Given the description of an element on the screen output the (x, y) to click on. 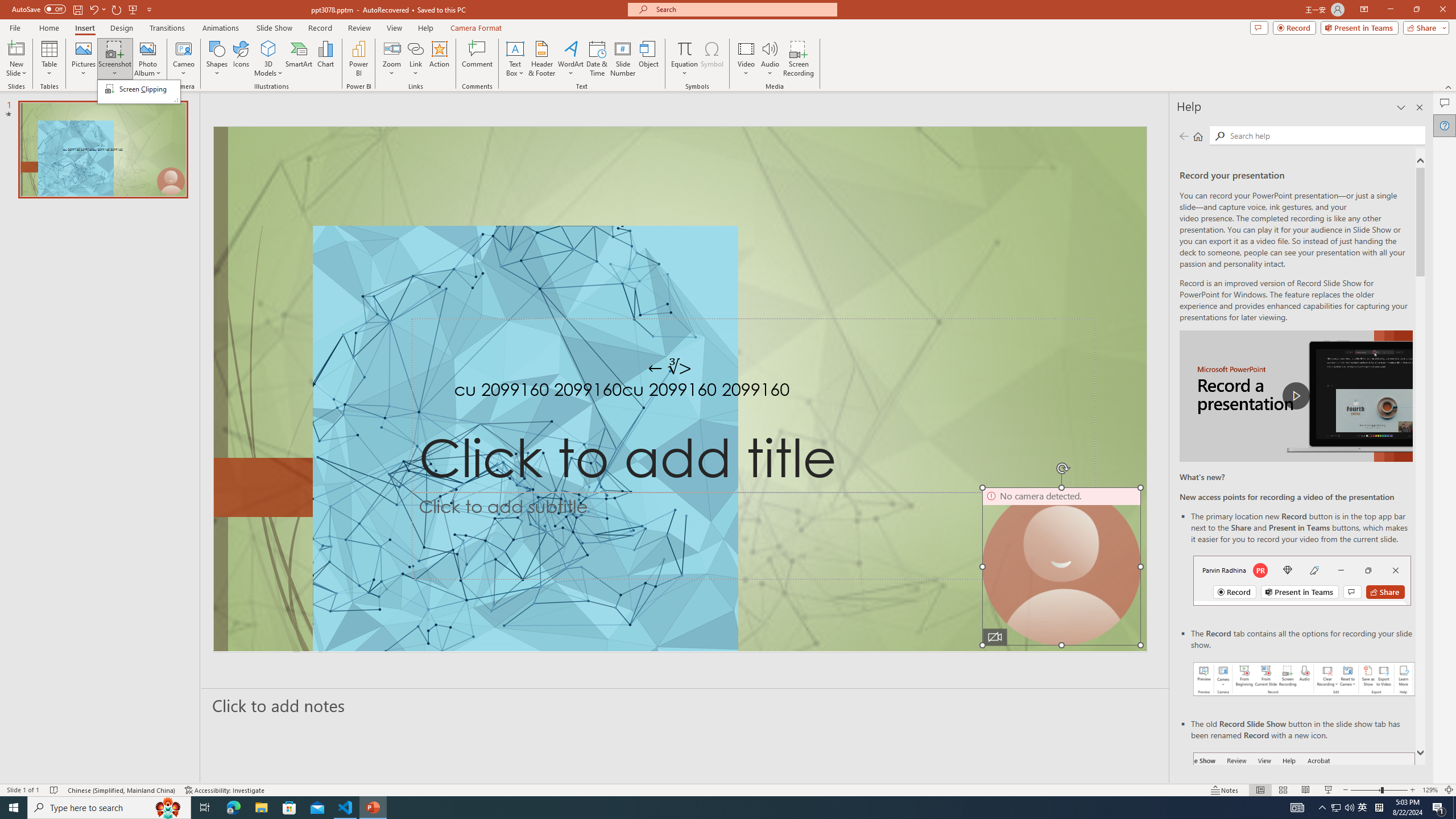
Screen Recording... (798, 58)
Action (439, 58)
SmartArt... (298, 58)
